Given the description of an element on the screen output the (x, y) to click on. 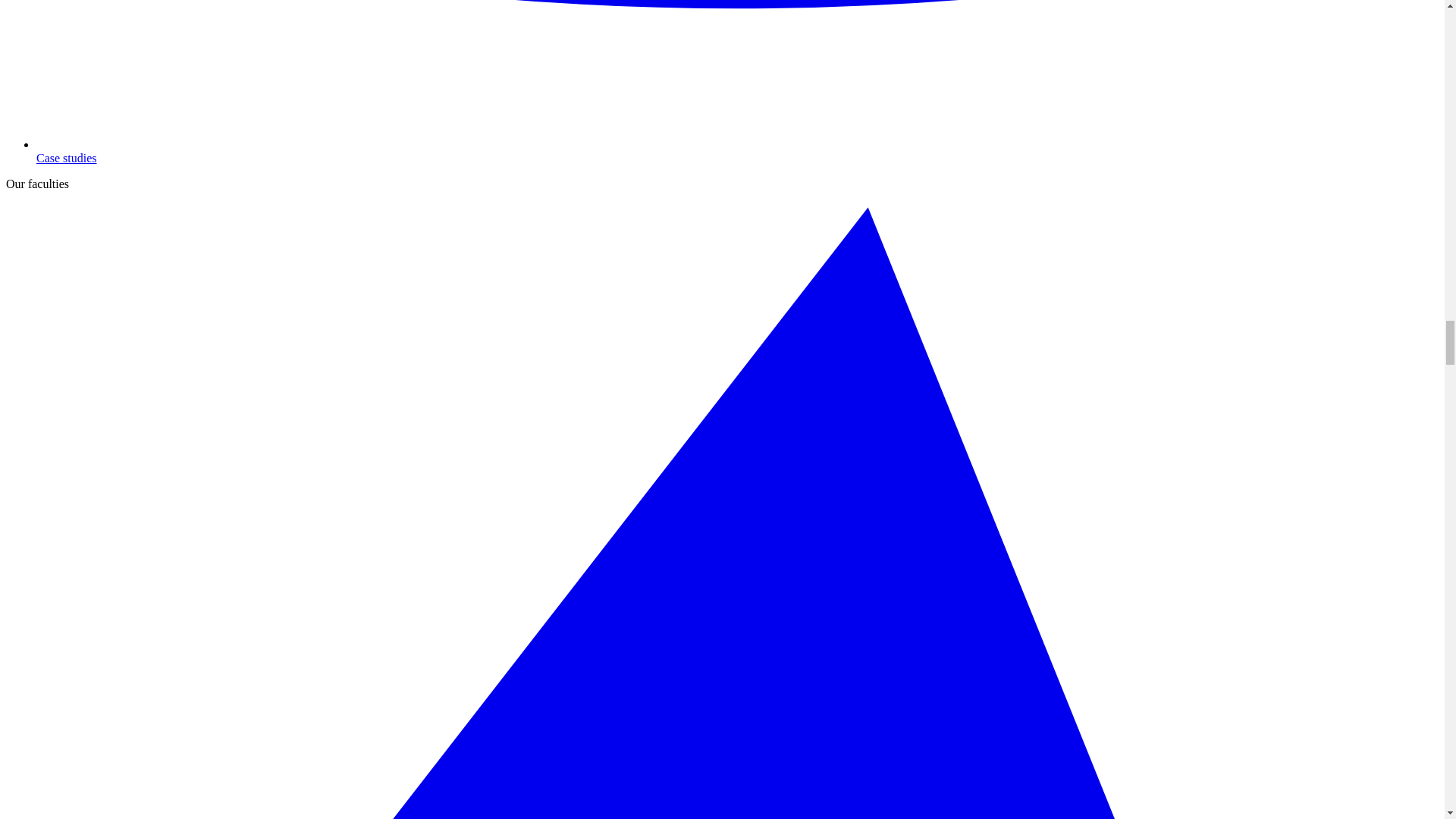
Our faculties (36, 183)
